Given the description of an element on the screen output the (x, y) to click on. 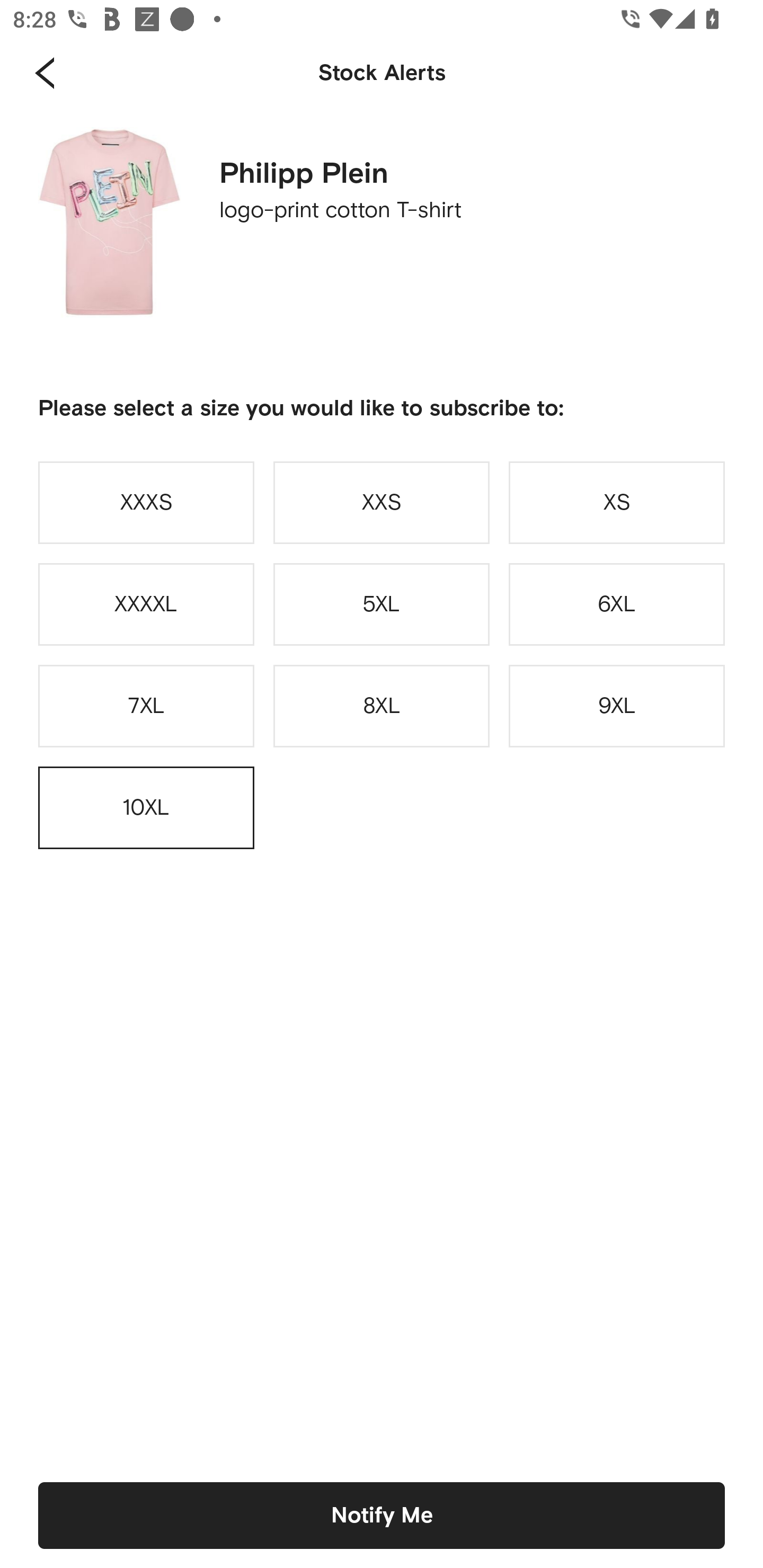
XXXS (146, 502)
XXS (381, 502)
XS (616, 502)
XXXXL (146, 604)
5XL (381, 604)
6XL (616, 604)
7XL (146, 705)
8XL (381, 705)
9XL (616, 705)
10XL (146, 807)
Notify Me (381, 1515)
